Given the description of an element on the screen output the (x, y) to click on. 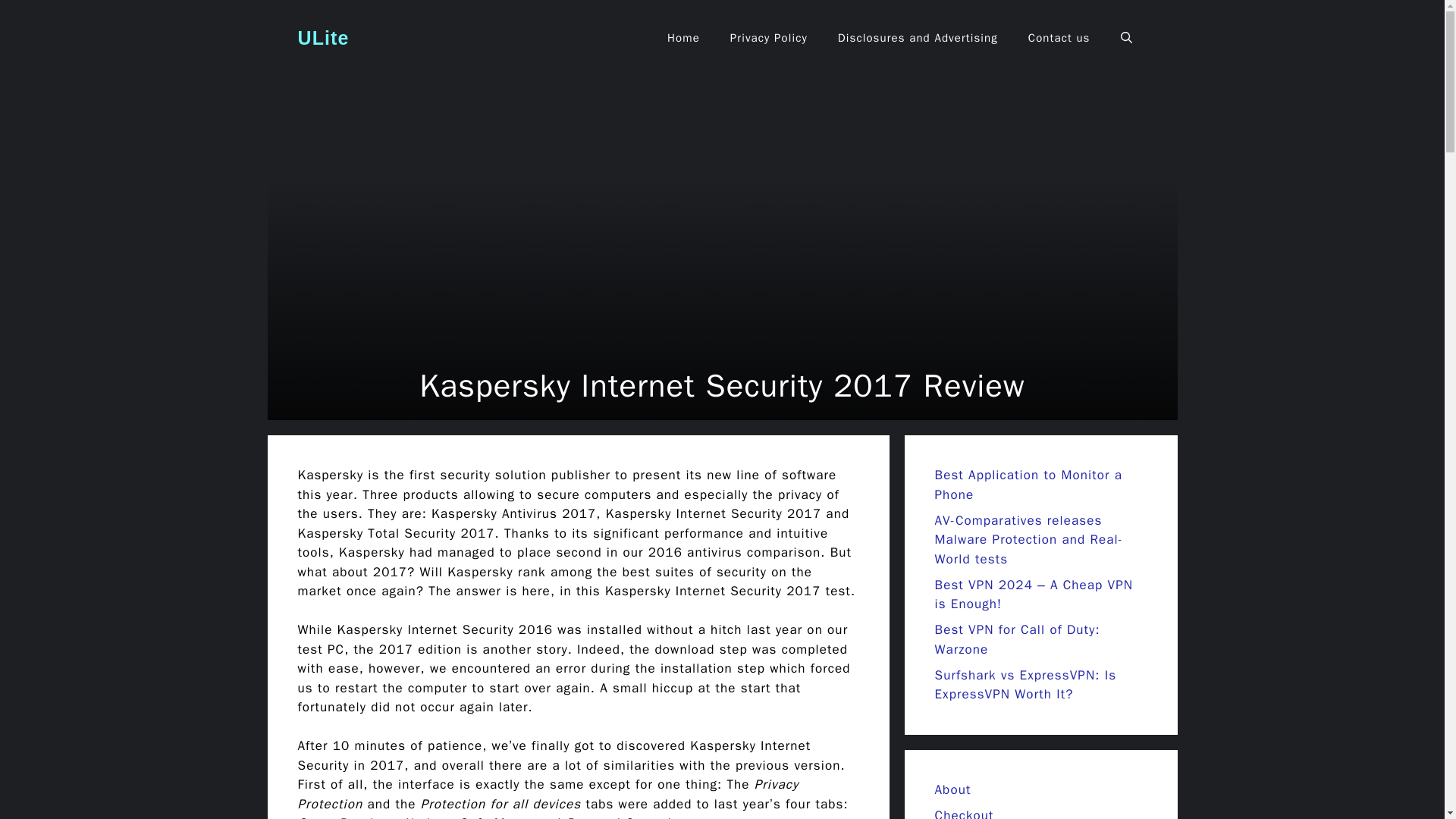
ULite (323, 37)
Privacy Policy (768, 37)
Disclosures and Advertising (917, 37)
Best VPN for Call of Duty: Warzone (1016, 639)
Surfshark vs ExpressVPN: Is ExpressVPN Worth It? (1025, 684)
Best Application to Monitor a Phone (1027, 484)
Contact us (1059, 37)
About (952, 789)
Checkout (963, 813)
Home (683, 37)
